Given the description of an element on the screen output the (x, y) to click on. 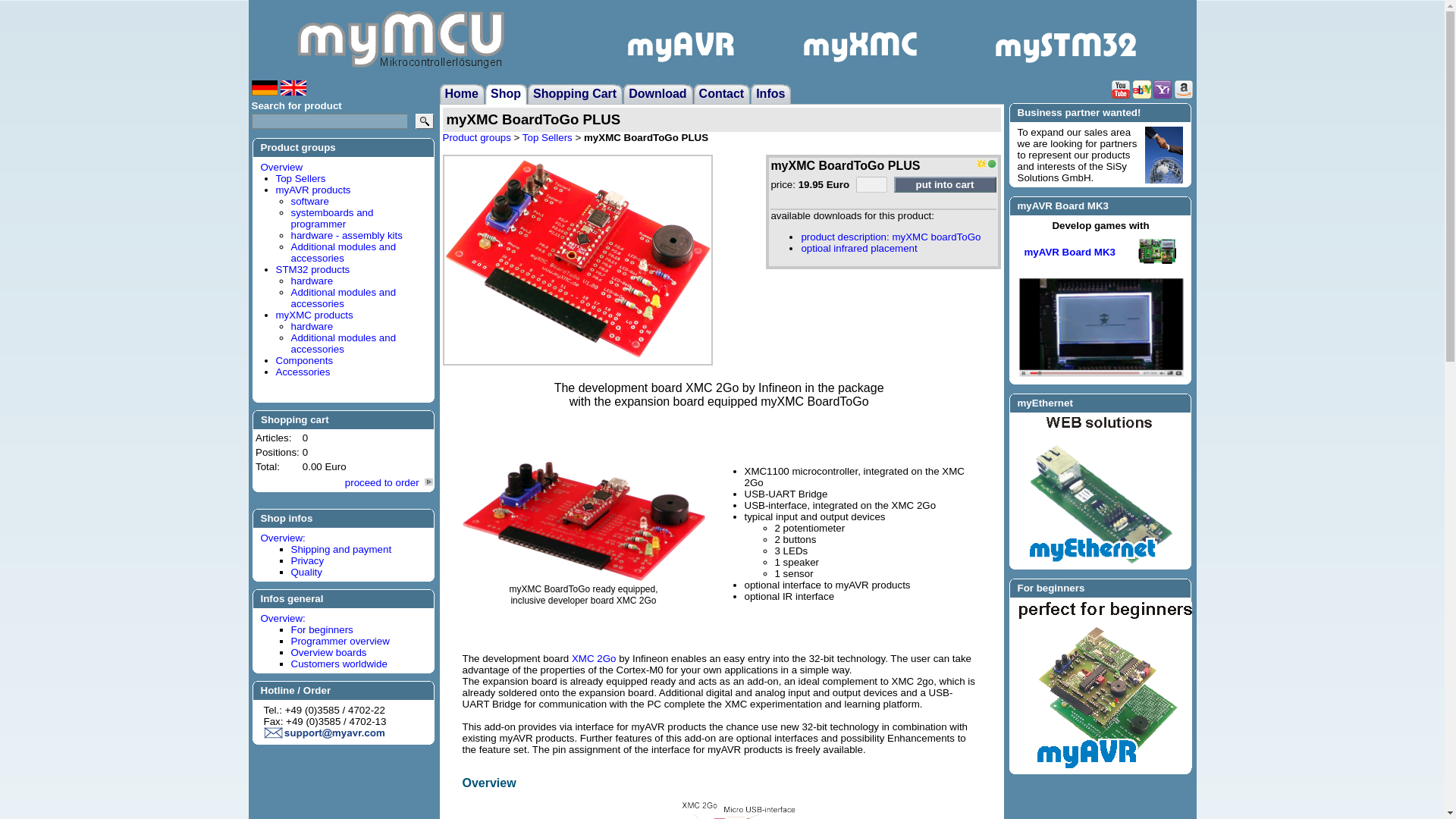
available (991, 163)
Shipping and payment (341, 549)
Infos (772, 93)
Components (304, 360)
myXMC Produtkte (877, 39)
myAVR on Yahoo (1162, 89)
myXMC BoardToGo PLUS (577, 258)
Download (660, 93)
myAVR on Youtube (1120, 89)
myAVR on ebay (1141, 89)
Overview: (282, 618)
Overview (281, 166)
Top Sellers (547, 137)
software (310, 201)
Privacy (307, 560)
